Given the description of an element on the screen output the (x, y) to click on. 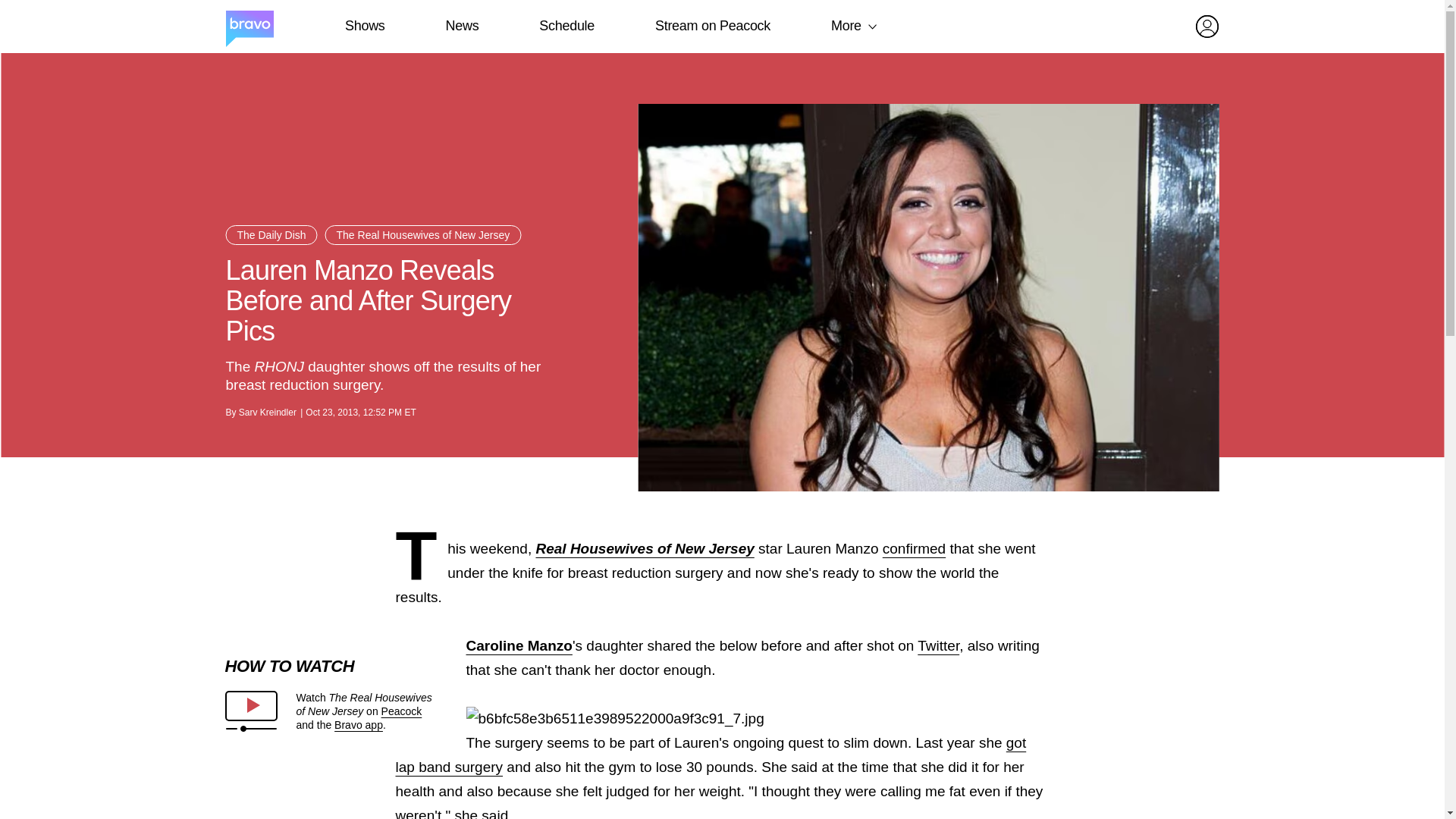
Stream on Peacock (712, 26)
More (846, 26)
confirmed (913, 548)
Real Housewives of New Jersey (644, 548)
Bravo app (358, 725)
Schedule (566, 26)
Shows (363, 26)
Sarv Kreindler (267, 412)
The Daily Dish (271, 234)
